Given the description of an element on the screen output the (x, y) to click on. 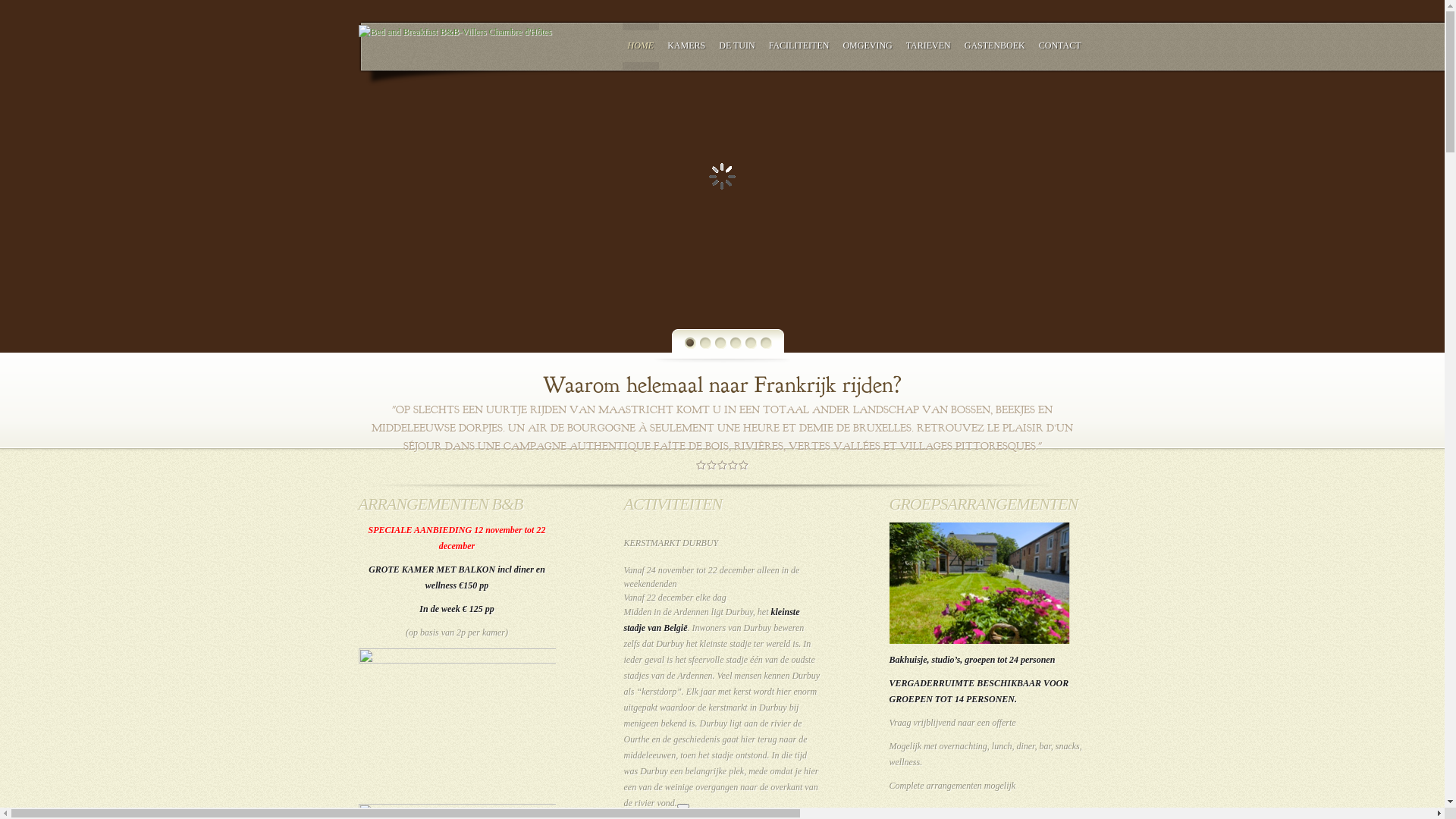
5 Element type: text (750, 342)
click To Maximize The Table Of Contents Element type: hover (683, 805)
KAMERS Element type: text (686, 45)
OMGEVING Element type: text (867, 45)
6 Element type: text (765, 342)
2 Element type: text (704, 342)
FACILITEITEN Element type: text (798, 45)
1 Element type: text (689, 342)
HOME Element type: text (640, 44)
GASTENBOEK Element type: text (994, 45)
4 Element type: text (734, 342)
3 Element type: text (719, 342)
CONTACT Element type: text (1059, 45)
TARIEVEN Element type: text (928, 45)
DE TUIN Element type: text (736, 45)
